Given the description of an element on the screen output the (x, y) to click on. 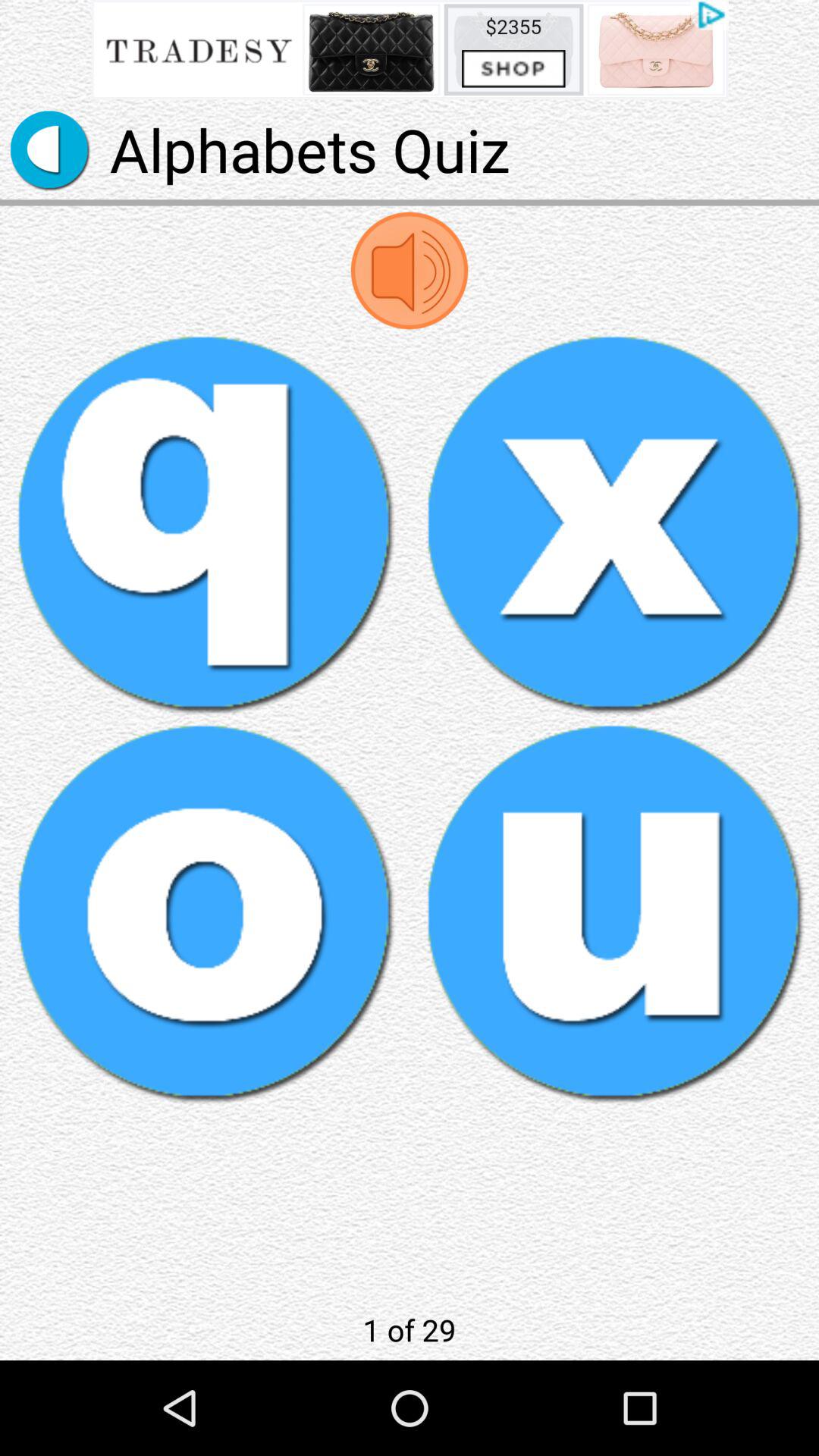
select speaker (409, 270)
